Given the description of an element on the screen output the (x, y) to click on. 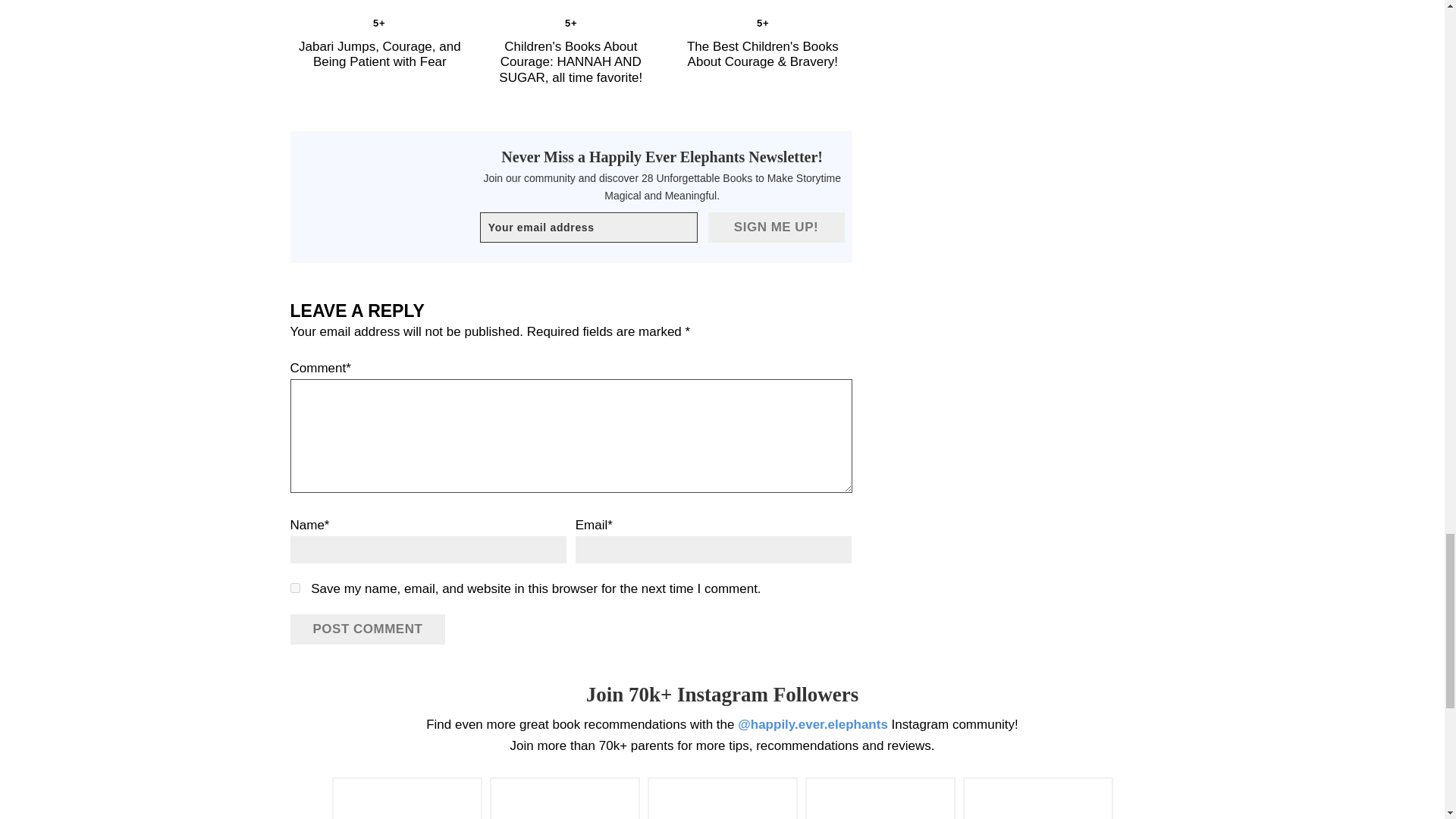
Post Comment (367, 629)
yes (294, 587)
